Given the description of an element on the screen output the (x, y) to click on. 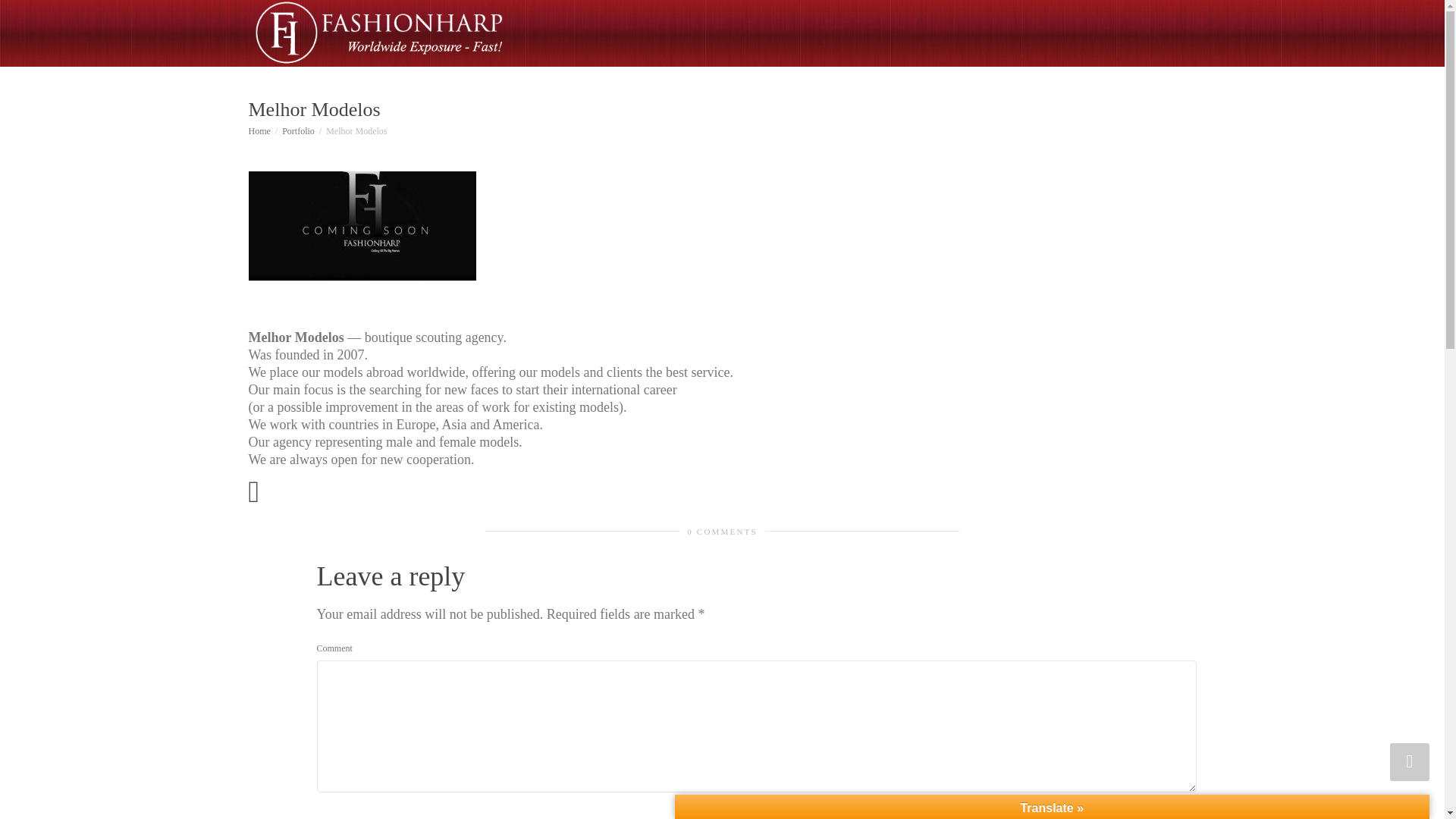
FashionHarp (378, 33)
Portfolio (298, 131)
Home (259, 131)
FashionHarp (259, 131)
